Given the description of an element on the screen output the (x, y) to click on. 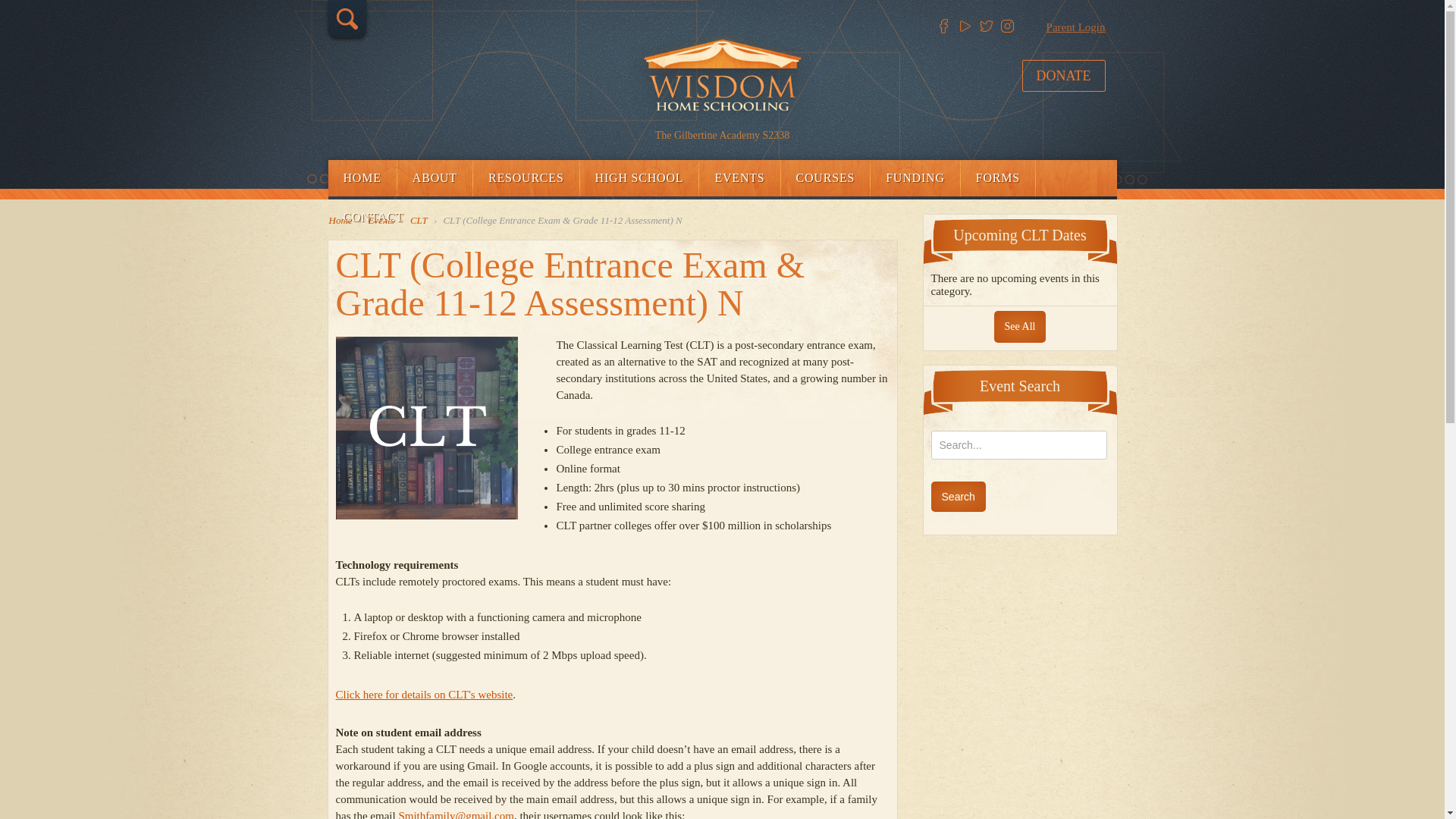
Search (958, 496)
Search (958, 496)
